Given the description of an element on the screen output the (x, y) to click on. 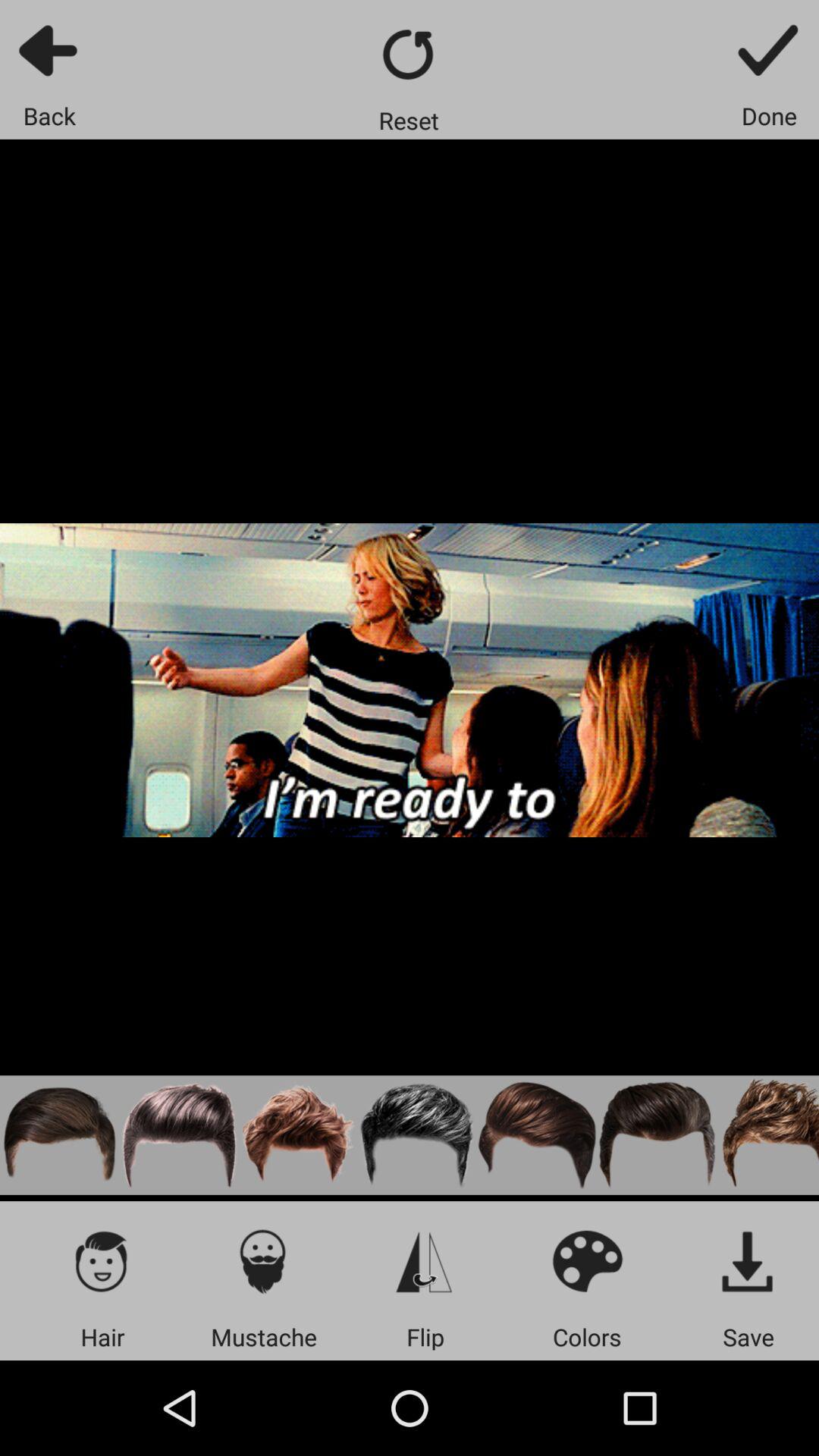
flip photo (425, 1260)
